Given the description of an element on the screen output the (x, y) to click on. 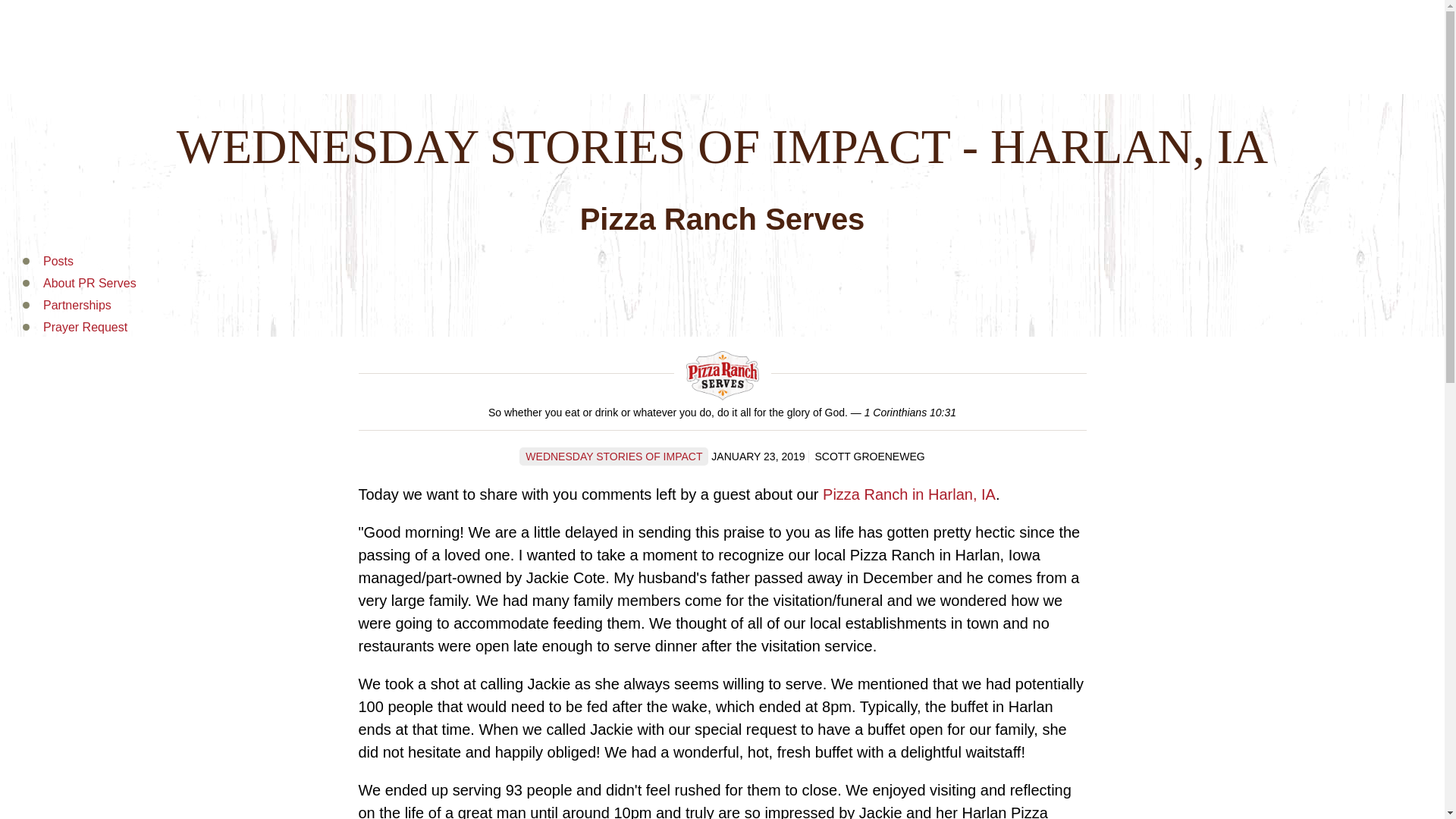
Posts (58, 260)
About PR Serves (89, 282)
Prayer Request (85, 327)
WEDNESDAY STORIES OF IMPACT (613, 456)
Partnerships (77, 305)
Pizza Ranch in Harlan, IA (908, 494)
